Given the description of an element on the screen output the (x, y) to click on. 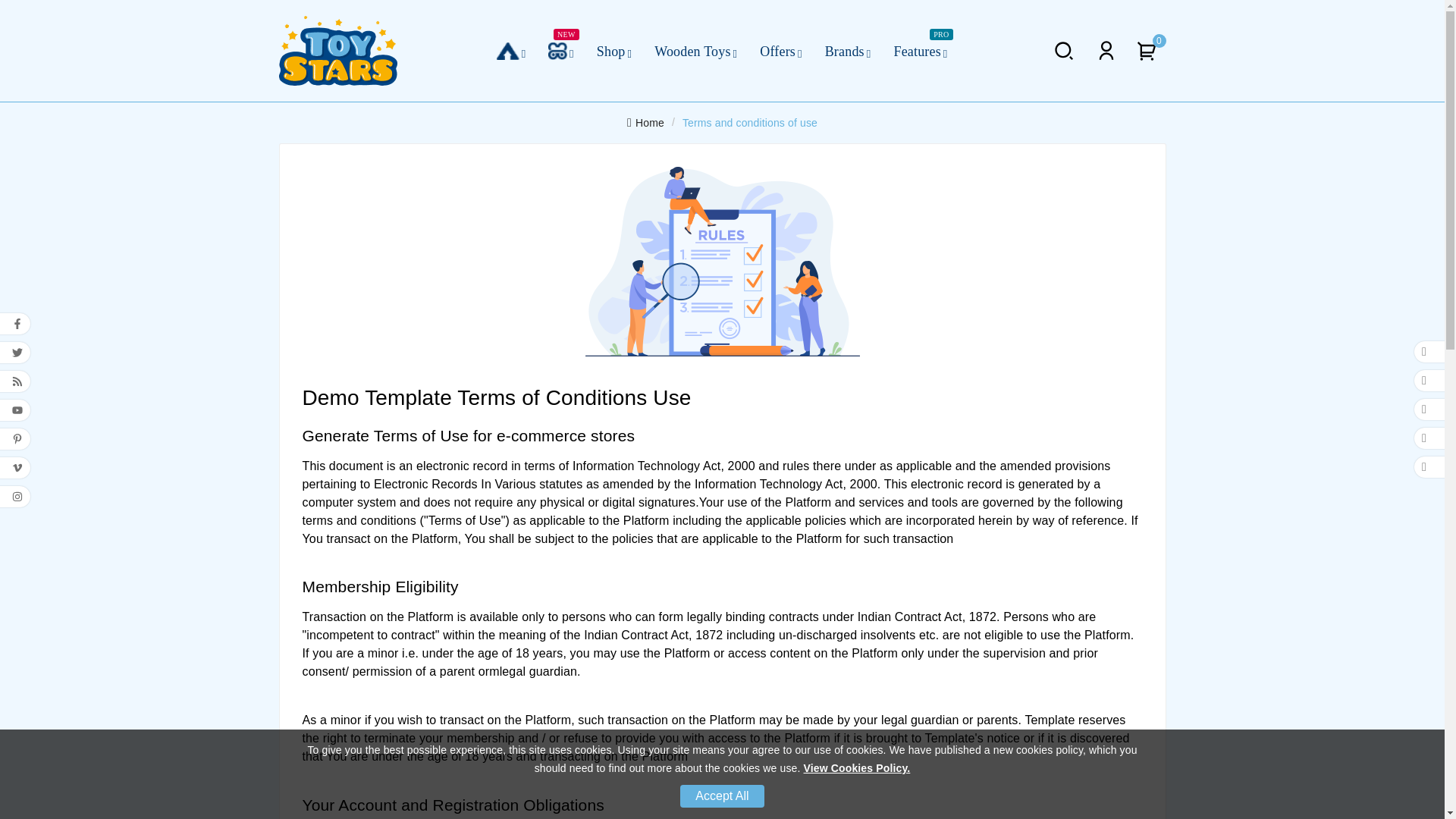
NEW (561, 50)
Accept All (720, 795)
Wooden Toys (695, 50)
Offers (780, 50)
0 (1150, 50)
Shop (614, 50)
Cart (1150, 50)
Brands (847, 50)
Home (645, 121)
Terms and conditions of use (749, 121)
